Given the description of an element on the screen output the (x, y) to click on. 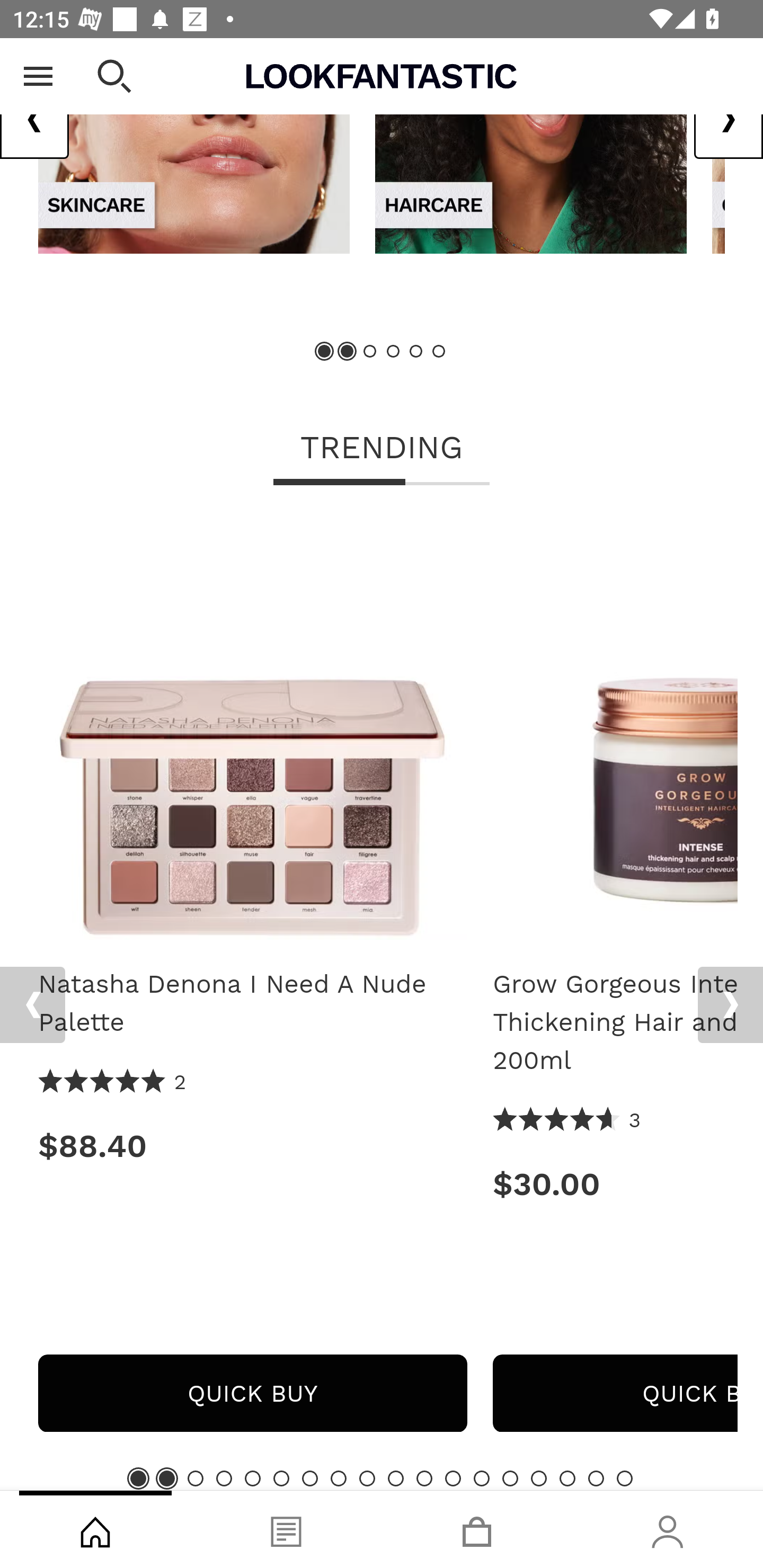
Showing Slide 1 (Current Item) (324, 351)
Showing Slide 2 (Current Item) (347, 351)
Slide 3 (369, 351)
Slide 4 (393, 351)
Slide 5 (415, 351)
Slide 6 (437, 351)
TRENDING (381, 449)
Natasha Denona I Need A Nude Palette (252, 731)
Natasha Denona I Need A Nude Palette (252, 1003)
Previous (32, 1004)
Next (730, 1004)
5.0 Stars 2 Reviews (112, 1082)
4.67 Stars 3 Reviews (567, 1120)
Price: $88.40 (252, 1146)
Price: $30.00 (614, 1184)
QUICK BUY NATASHA DENONA I NEED A NUDE PALETTE (252, 1393)
Showing Slide 1 (Current Item) (138, 1479)
Showing Slide 2 (Current Item) (166, 1479)
Slide 3 (195, 1479)
Slide 4 (223, 1479)
Slide 5 (252, 1479)
Slide 6 (281, 1479)
Slide 7 (310, 1479)
Slide 8 (338, 1479)
Slide 9 (367, 1479)
Slide 10 (395, 1479)
Slide 11 (424, 1479)
Slide 12 (452, 1479)
Slide 13 (481, 1479)
Slide 14 (510, 1479)
Slide 15 (539, 1479)
Slide 16 (567, 1479)
Slide 17 (596, 1479)
Slide 18 (624, 1479)
Shop, tab, 1 of 4 (95, 1529)
Blog, tab, 2 of 4 (285, 1529)
Basket, tab, 3 of 4 (476, 1529)
Account, tab, 4 of 4 (667, 1529)
